Given the description of an element on the screen output the (x, y) to click on. 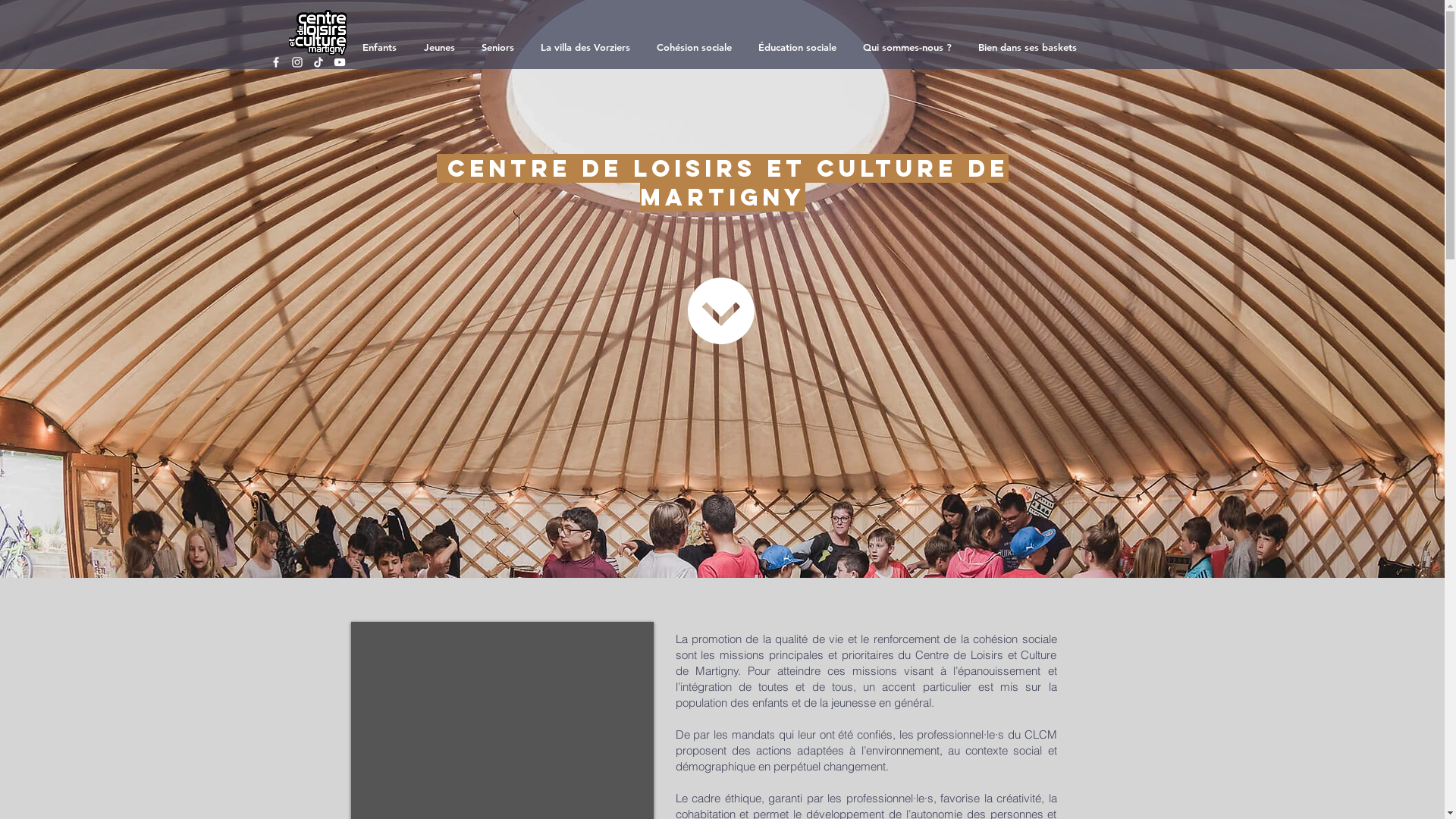
Jeunes Element type: text (441, 46)
La villa des Vorziers Element type: text (587, 46)
Enfants Element type: text (381, 46)
Bien dans ses baskets Element type: text (1029, 46)
Qui sommes-nous ? Element type: text (908, 46)
Seniors Element type: text (499, 46)
